Given the description of an element on the screen output the (x, y) to click on. 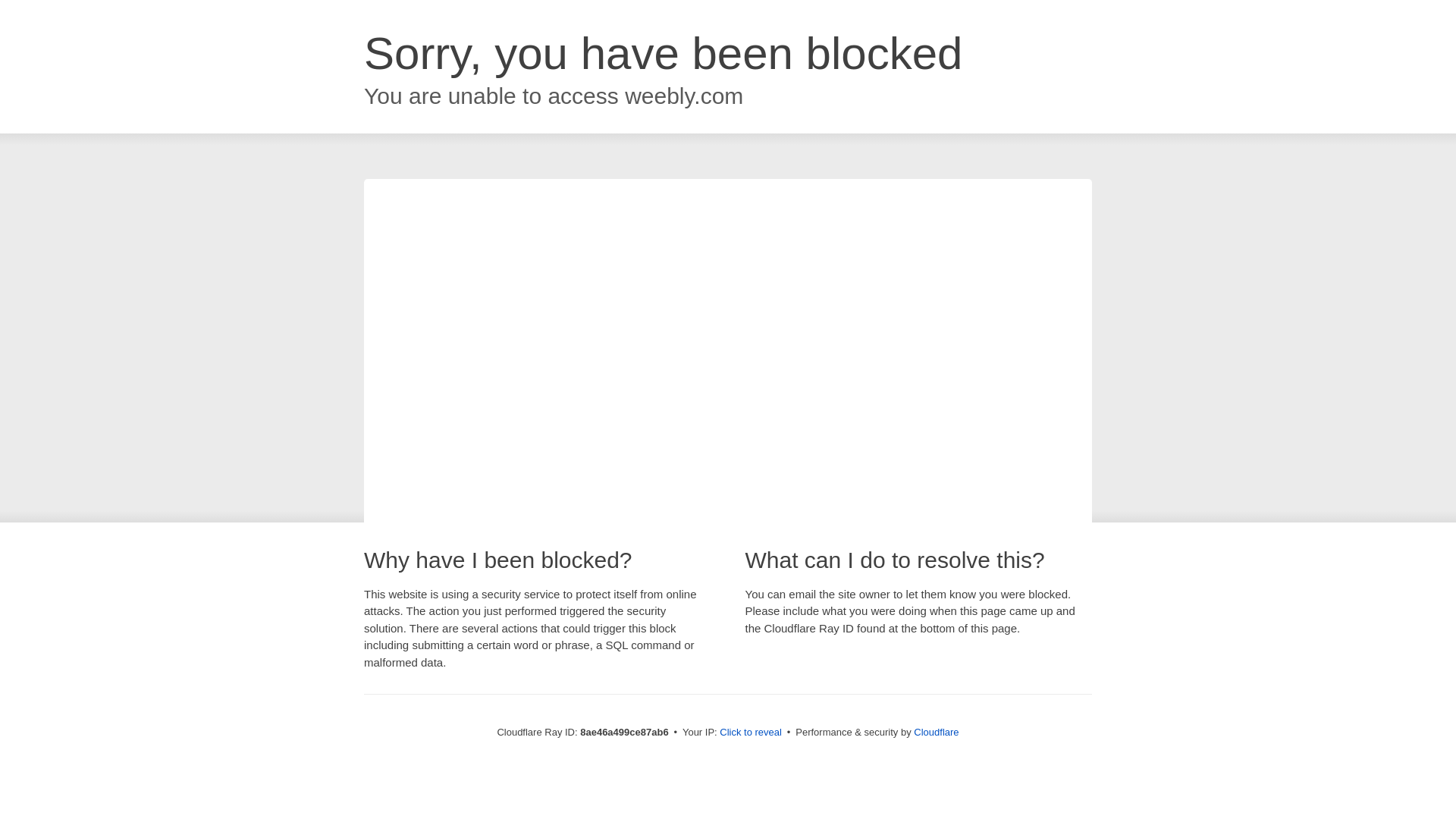
Click to reveal (750, 732)
Cloudflare (936, 731)
